Given the description of an element on the screen output the (x, y) to click on. 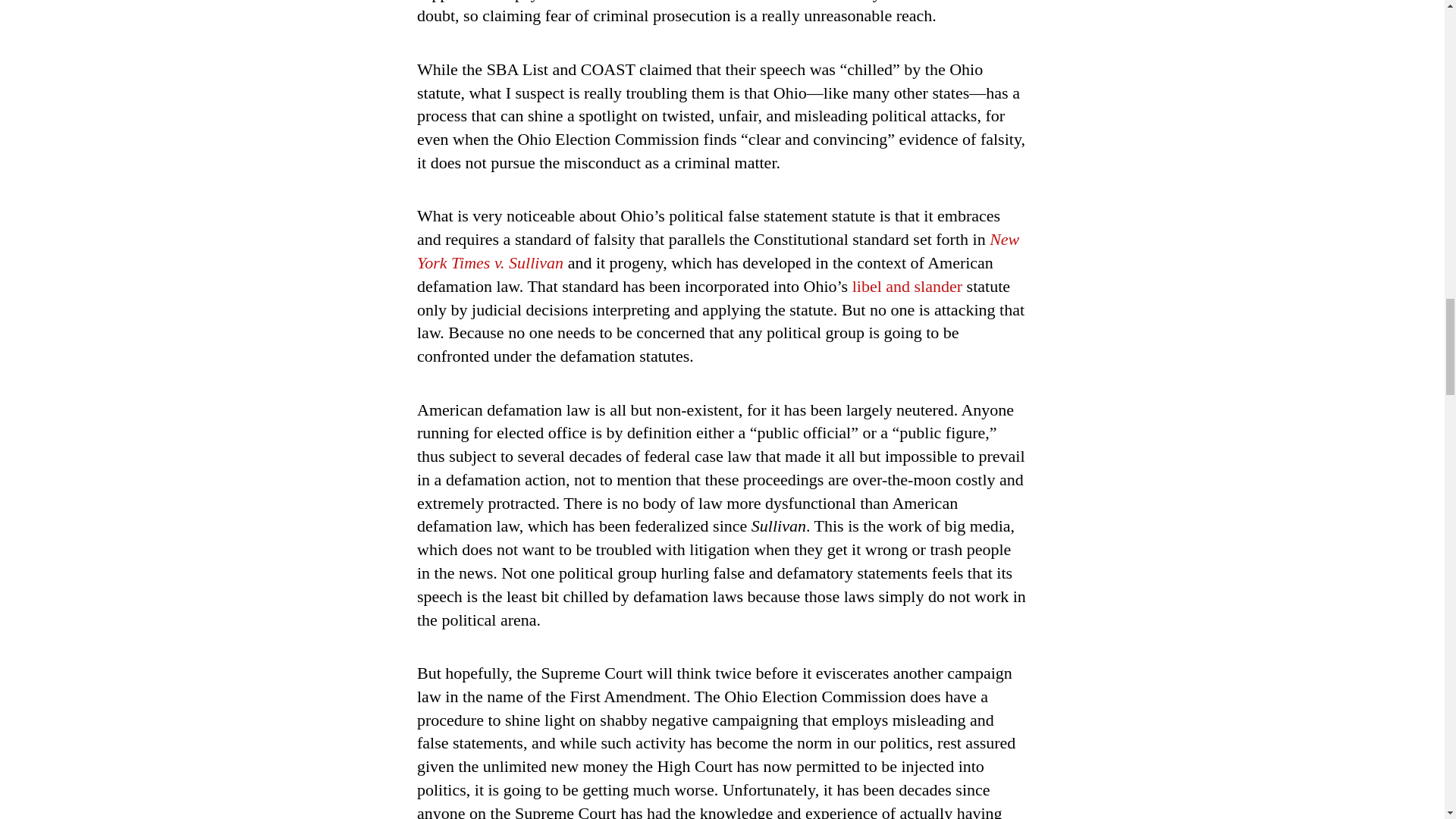
libel and slander (906, 285)
New York Times v. Sullivan (717, 250)
